Given the description of an element on the screen output the (x, y) to click on. 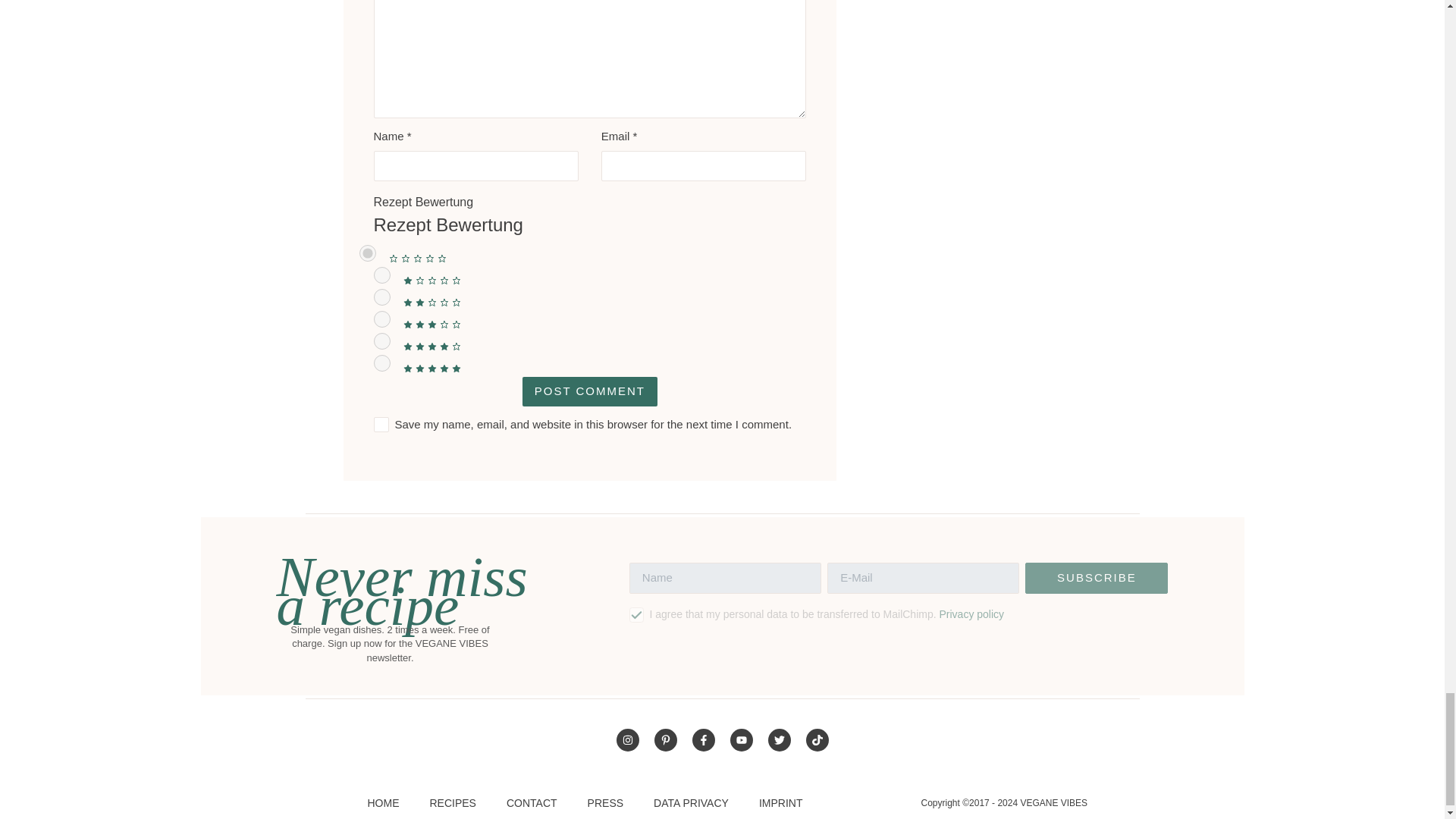
0 (367, 252)
1 (381, 274)
2 (381, 297)
